Given the description of an element on the screen output the (x, y) to click on. 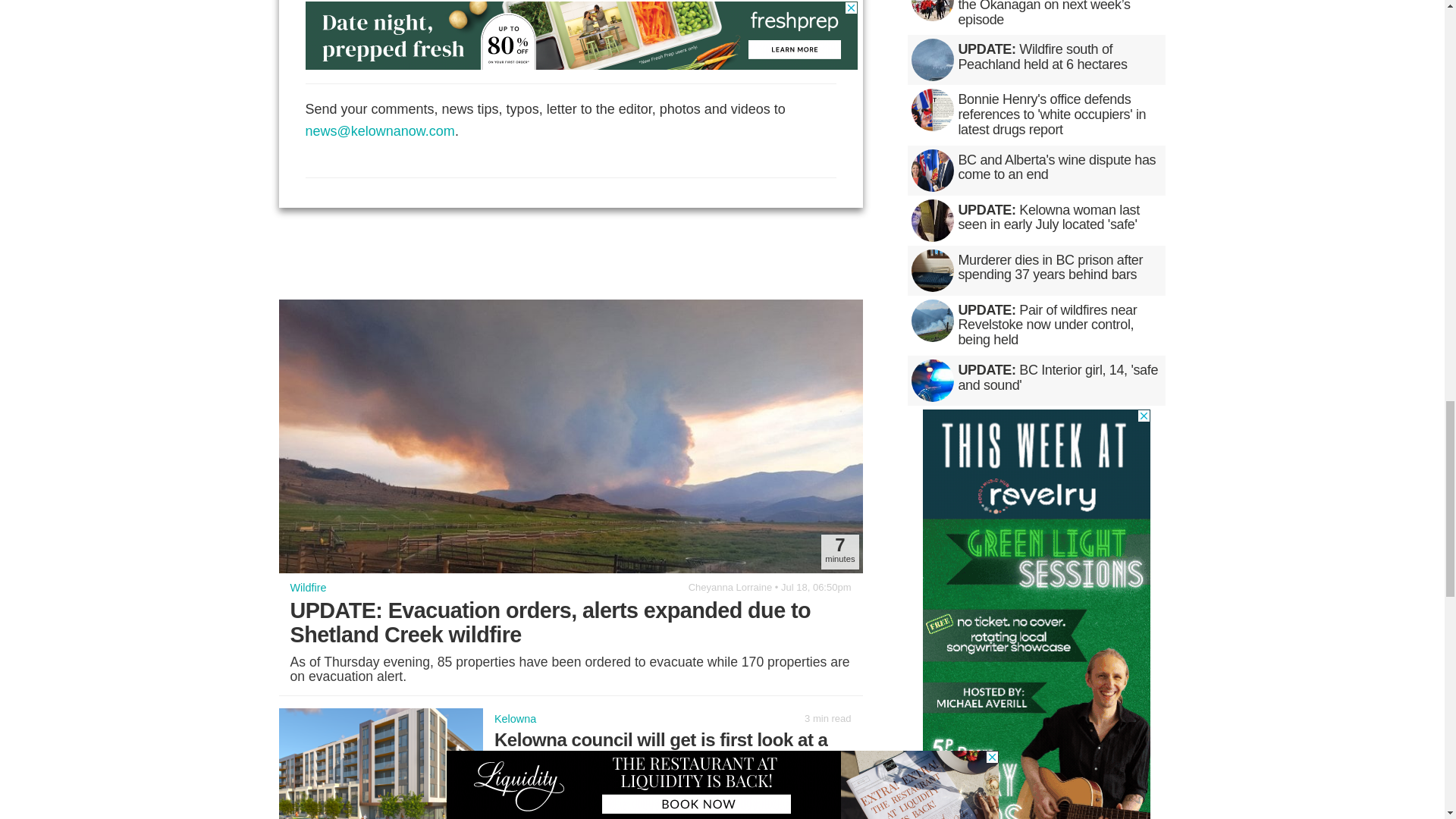
3rd party ad content (580, 35)
